Given the description of an element on the screen output the (x, y) to click on. 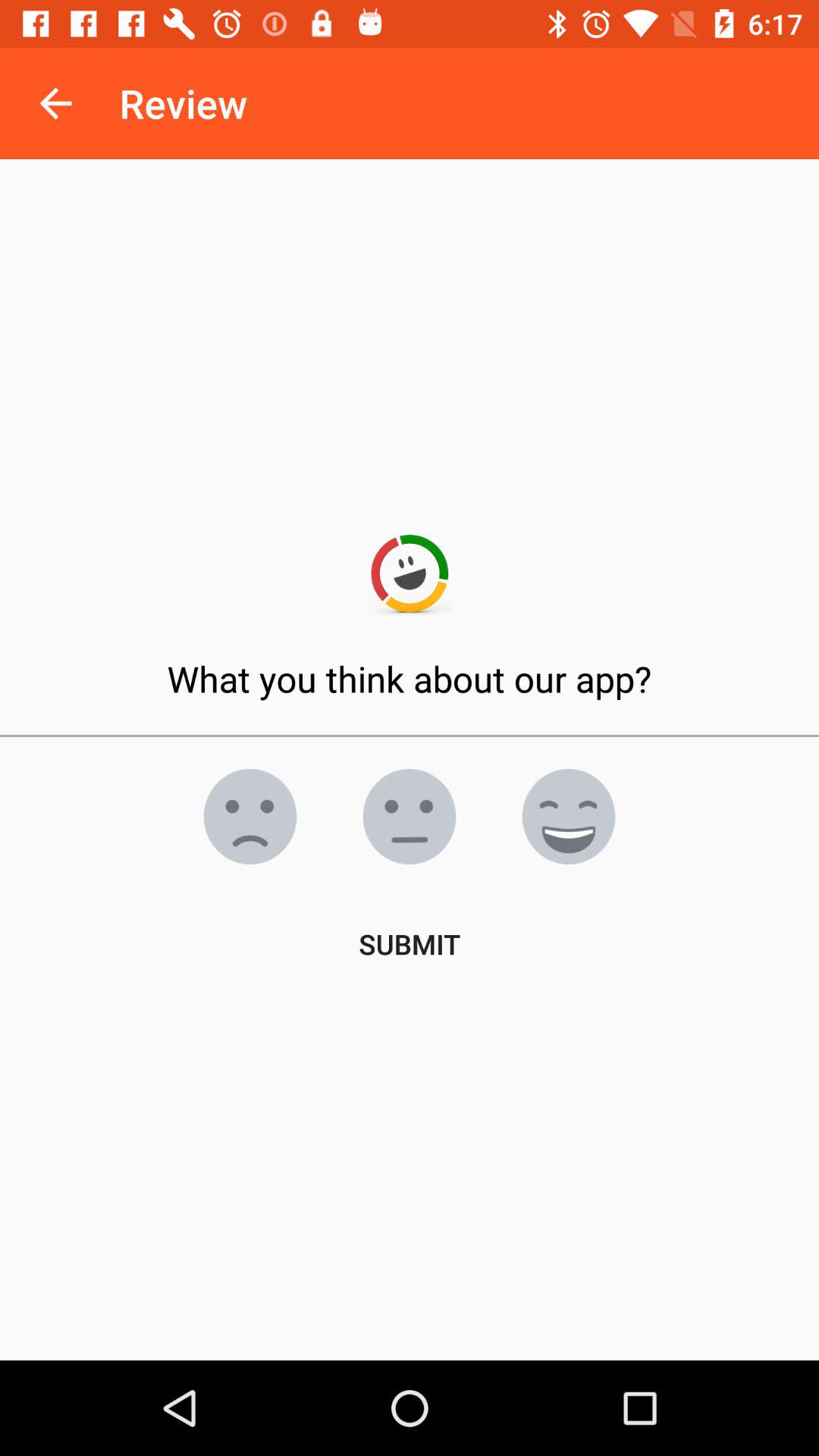
so (568, 816)
